Given the description of an element on the screen output the (x, y) to click on. 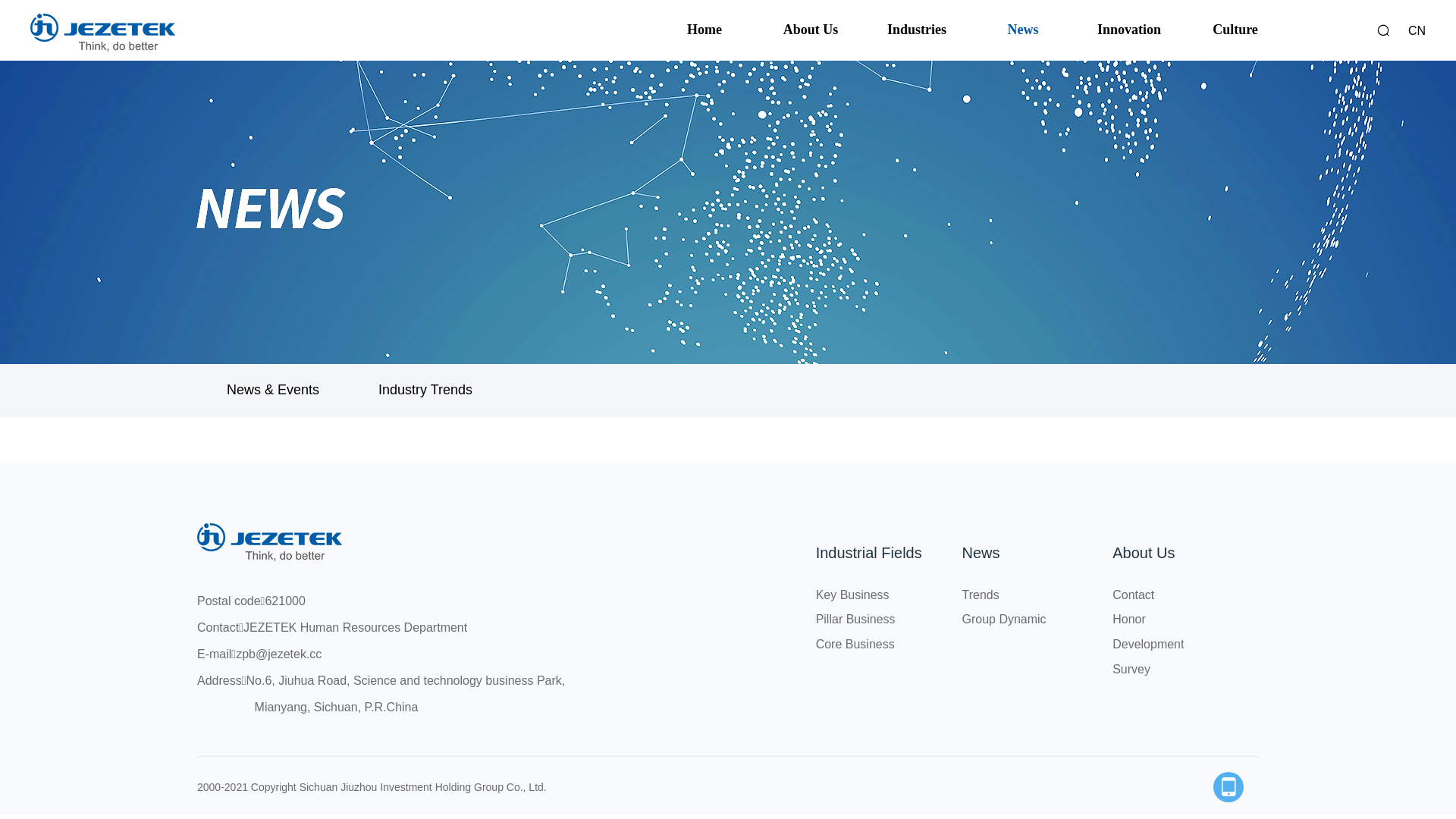
Trends Element type: text (979, 594)
Group Dynamic Element type: text (1003, 618)
Home
Home Element type: text (704, 30)
Industry Trends Element type: text (425, 390)
Contact Element type: text (1133, 594)
Development Element type: text (1147, 643)
Industrial Fields Element type: text (868, 552)
CN Element type: text (1416, 30)
News
News Element type: text (1022, 30)
About Us
About Us Element type: text (810, 30)
Honor Element type: text (1128, 618)
Culture
Culture Element type: text (1235, 30)
Pillar Business Element type: text (855, 618)
About Us Element type: text (1143, 552)
News Element type: text (980, 552)
Key Business Element type: text (852, 594)
Survey Element type: text (1131, 668)
Innovation
Innovation Element type: text (1129, 30)
Core Business Element type: text (854, 643)
Industries
Industries Element type: text (916, 30)
News & Events Element type: text (272, 390)
